Given the description of an element on the screen output the (x, y) to click on. 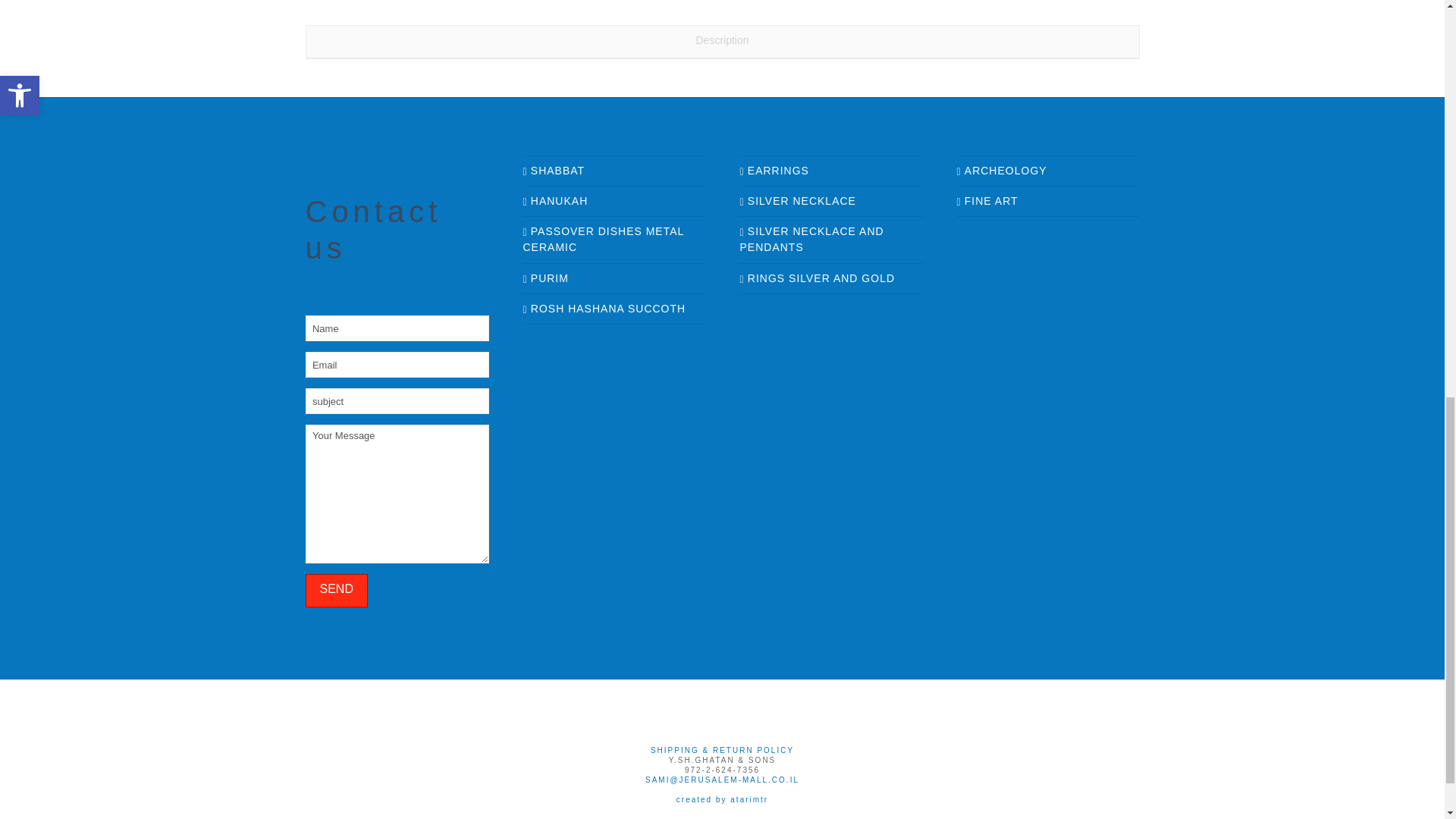
Name (395, 328)
Send (335, 591)
Email (395, 364)
subject (395, 401)
